Given the description of an element on the screen output the (x, y) to click on. 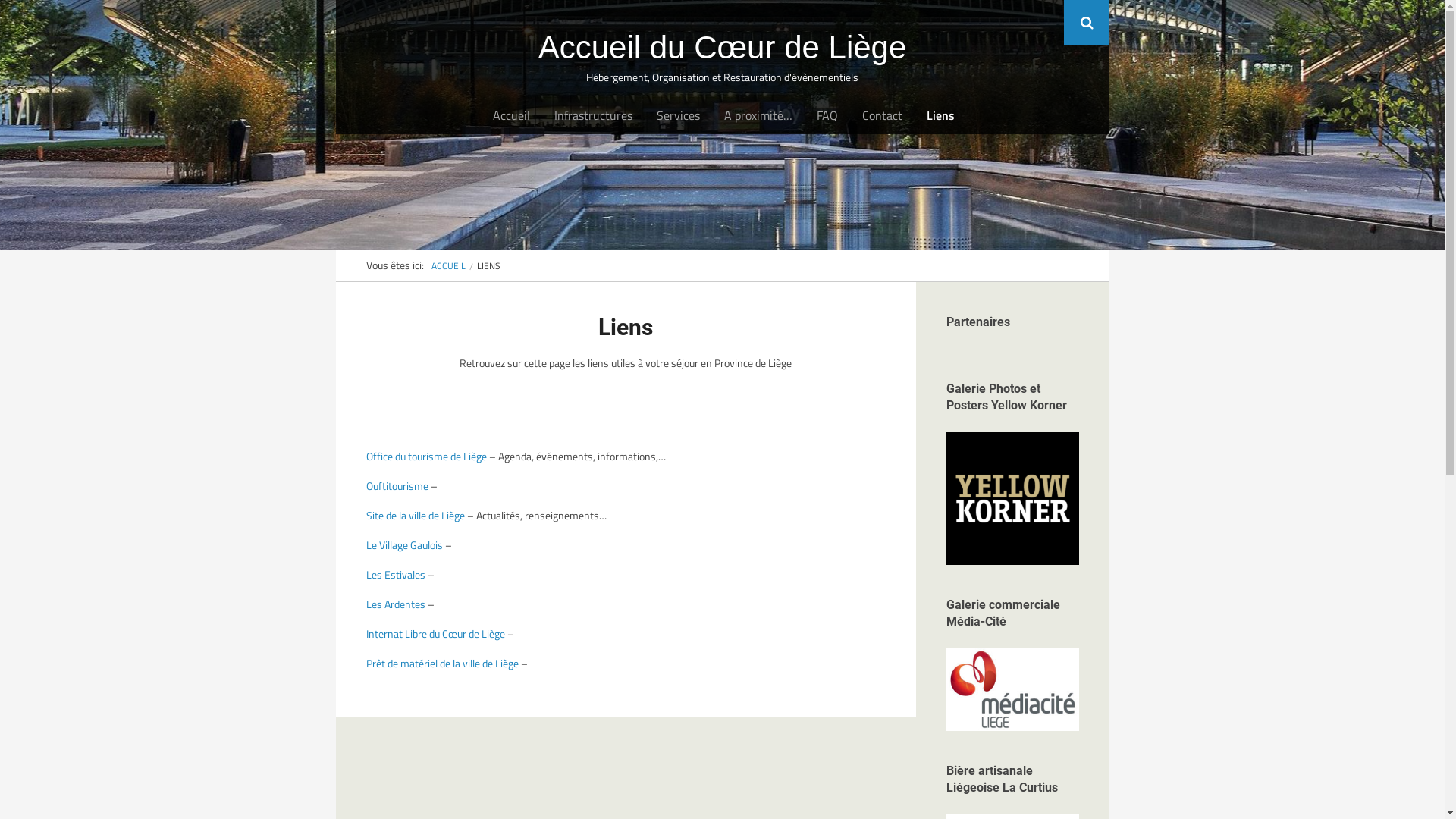
Les Estivales Element type: text (394, 574)
Liens Element type: text (940, 114)
Ouftitourisme Element type: text (396, 485)
Accueil Element type: text (511, 114)
Le Village Gaulois Element type: text (403, 544)
FAQ Element type: text (827, 114)
Services Element type: text (678, 114)
Infrastructures Element type: text (593, 114)
Les Ardentes Element type: text (394, 603)
ACCUEIL Element type: text (447, 265)
Contact Element type: text (882, 114)
